Given the description of an element on the screen output the (x, y) to click on. 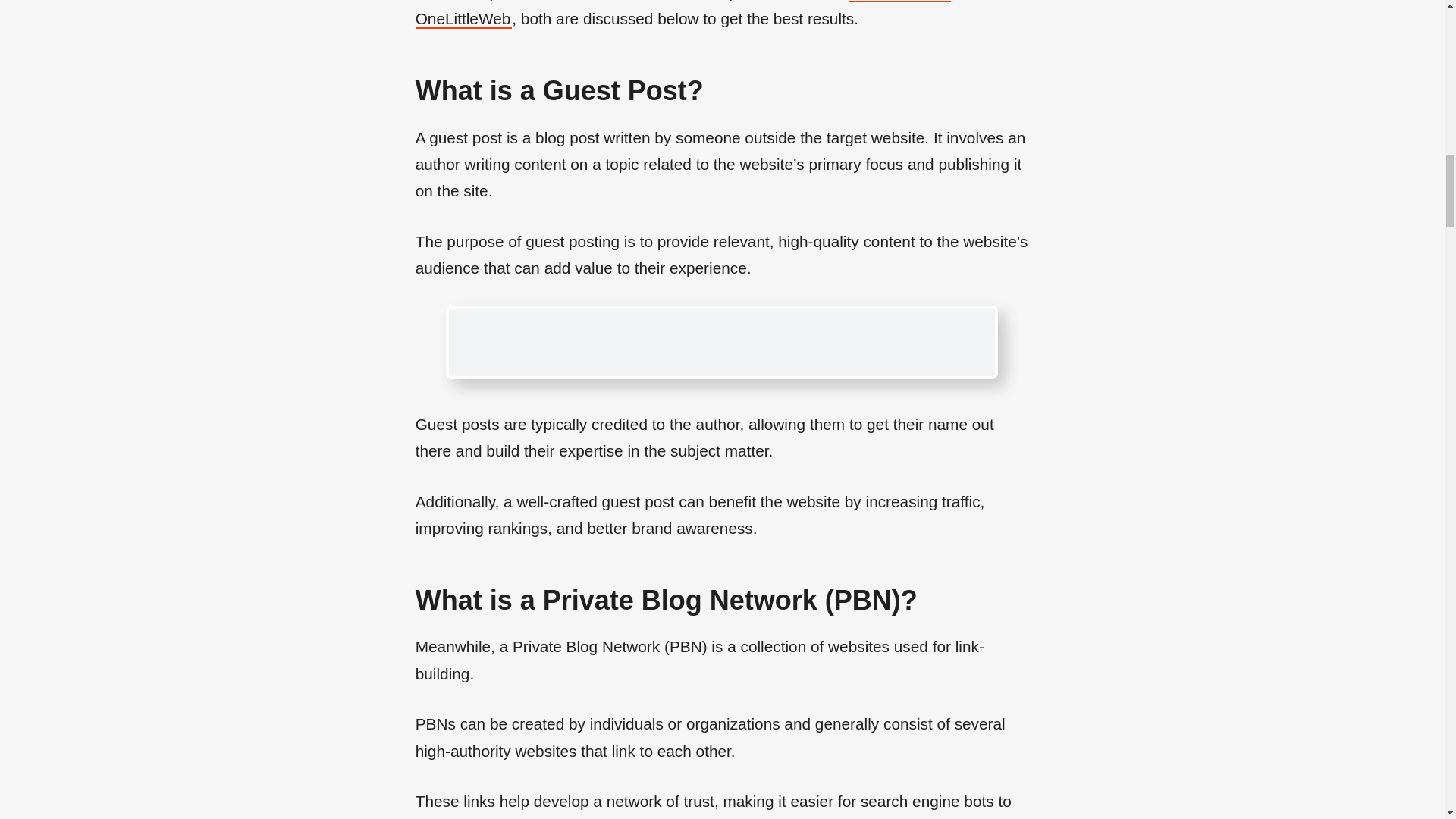
Rhino Rank or OneLittleWeb (683, 14)
